Given the description of an element on the screen output the (x, y) to click on. 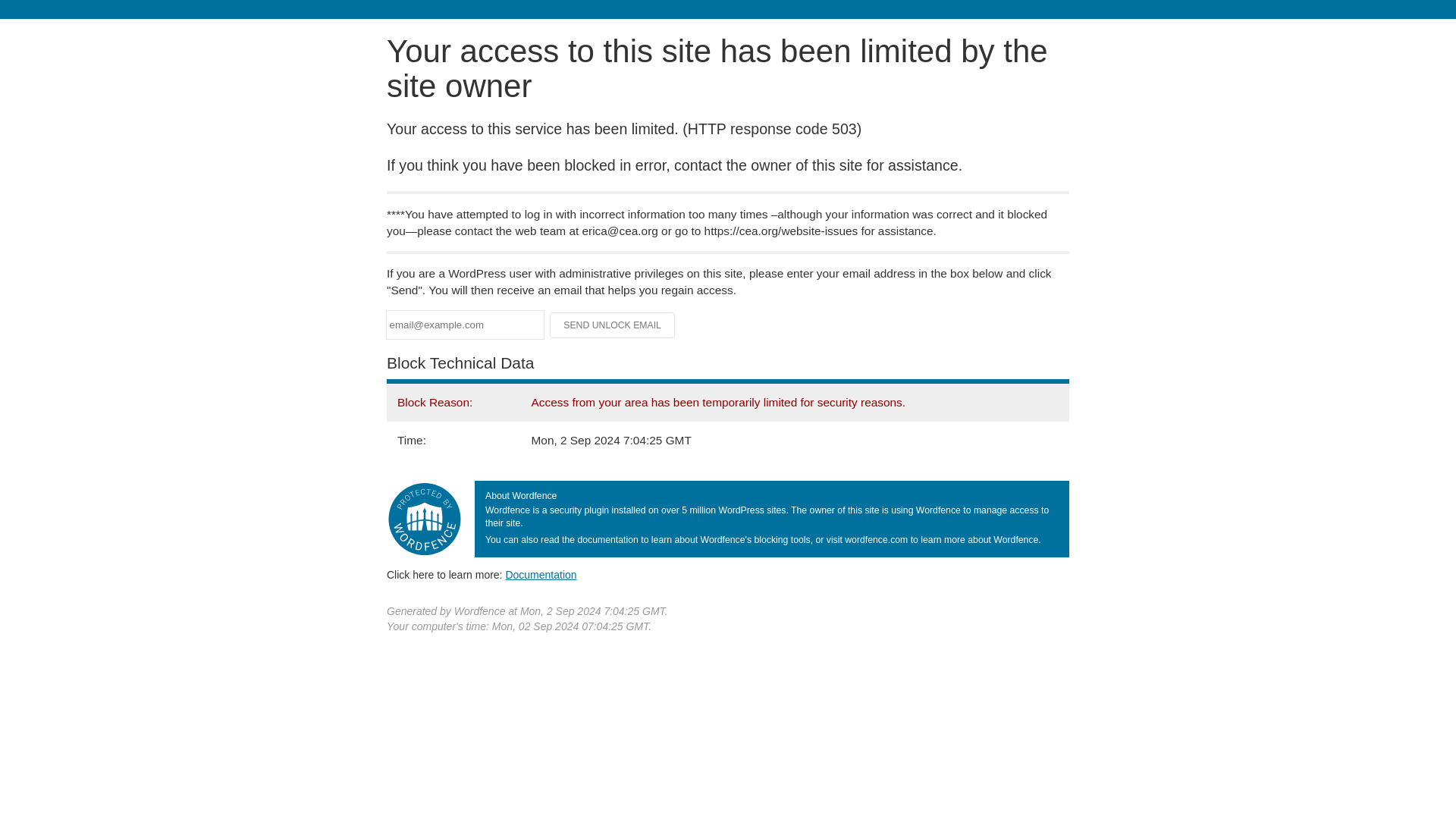
Send Unlock Email (612, 325)
Send Unlock Email (612, 325)
Documentation (540, 574)
